Given the description of an element on the screen output the (x, y) to click on. 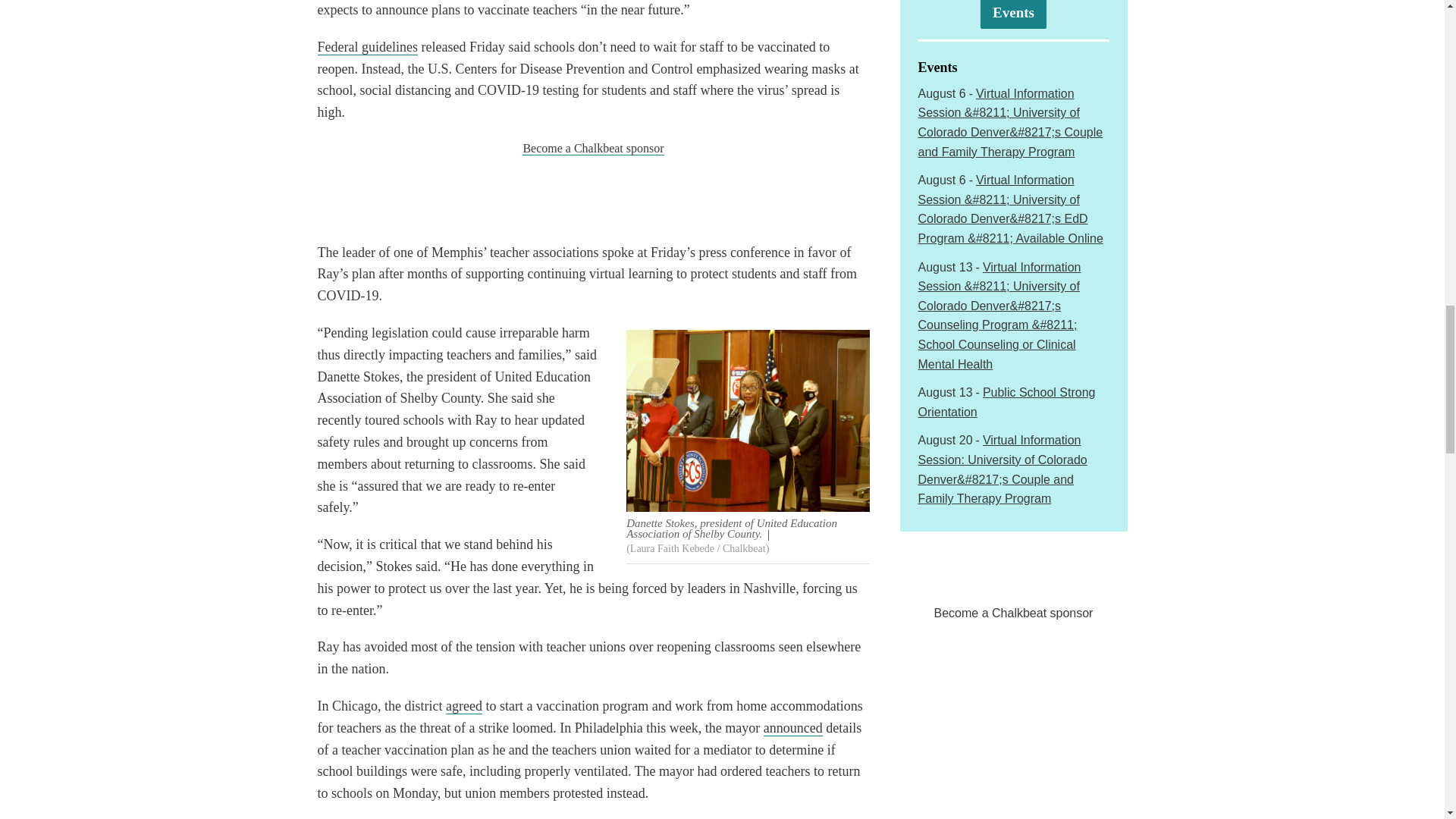
announced (792, 728)
Become a Chalkbeat sponsor (592, 148)
agreed (463, 706)
Federal guidelines (366, 47)
